Given the description of an element on the screen output the (x, y) to click on. 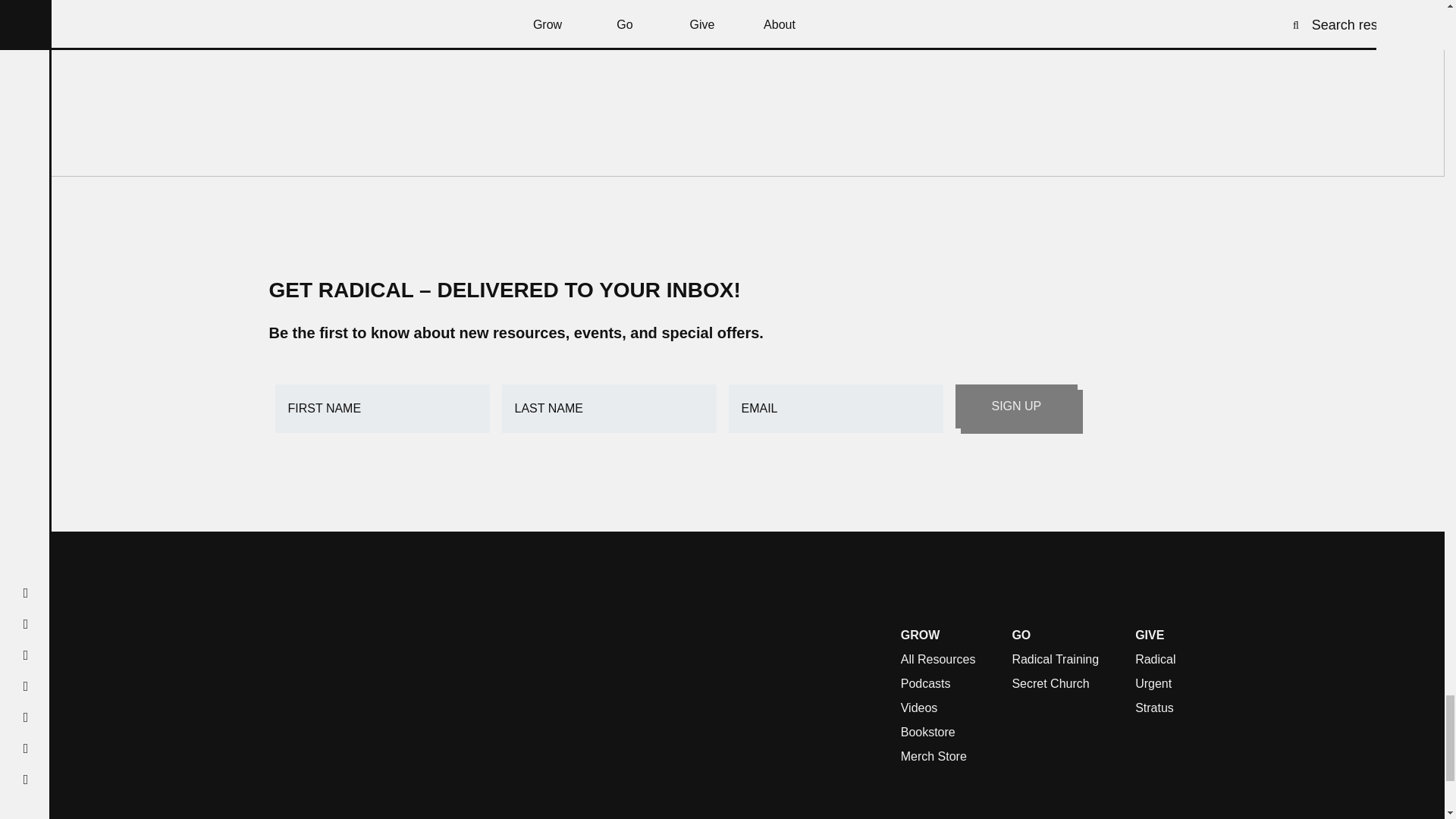
Sign Up (1016, 406)
